Given the description of an element on the screen output the (x, y) to click on. 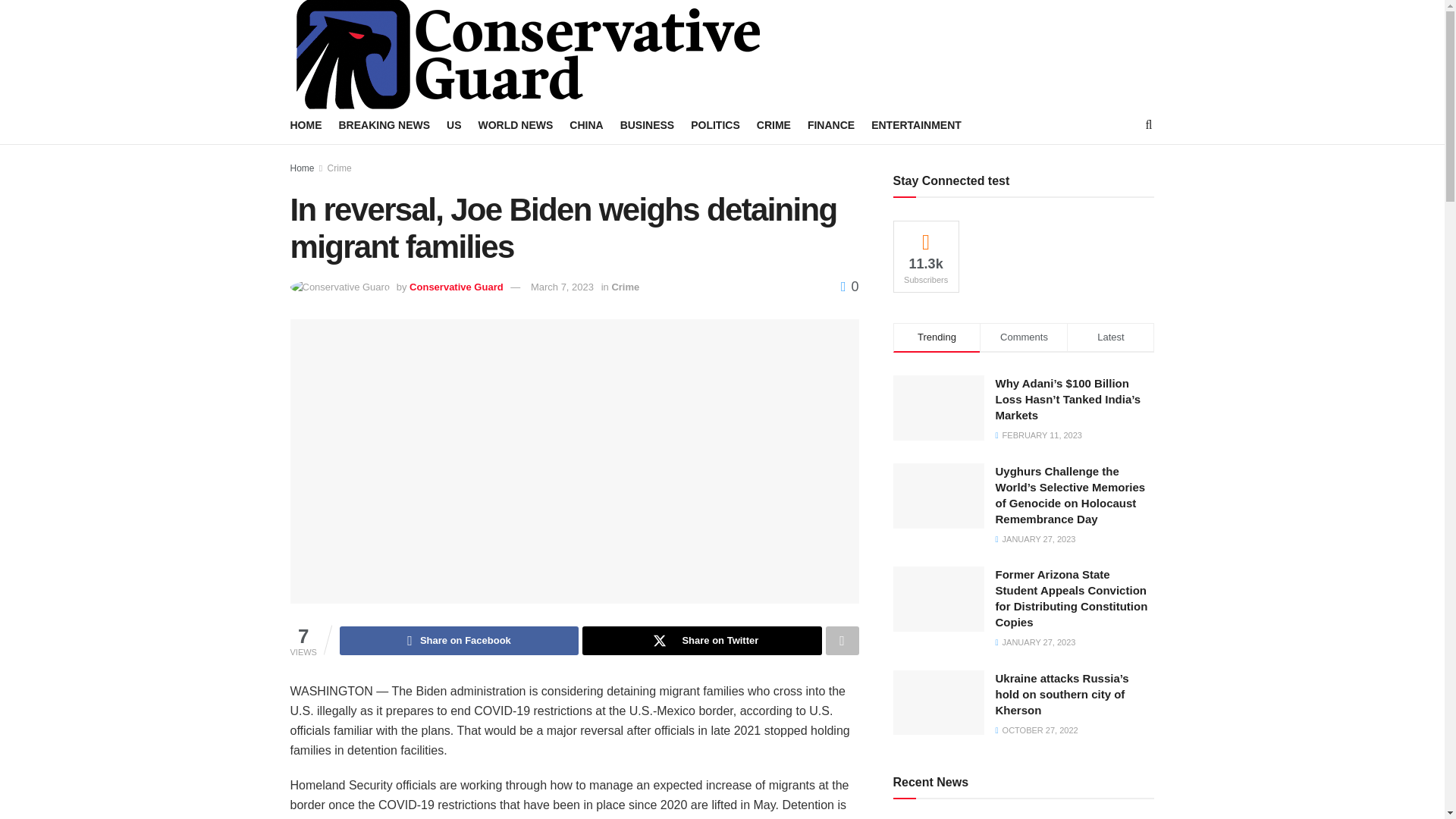
Share on Twitter (701, 640)
Crime (625, 286)
WORLD NEWS (516, 124)
Conservative Guard (456, 286)
BREAKING NEWS (383, 124)
HOME (305, 124)
CRIME (773, 124)
POLITICS (714, 124)
FINANCE (831, 124)
Home (301, 167)
